Given the description of an element on the screen output the (x, y) to click on. 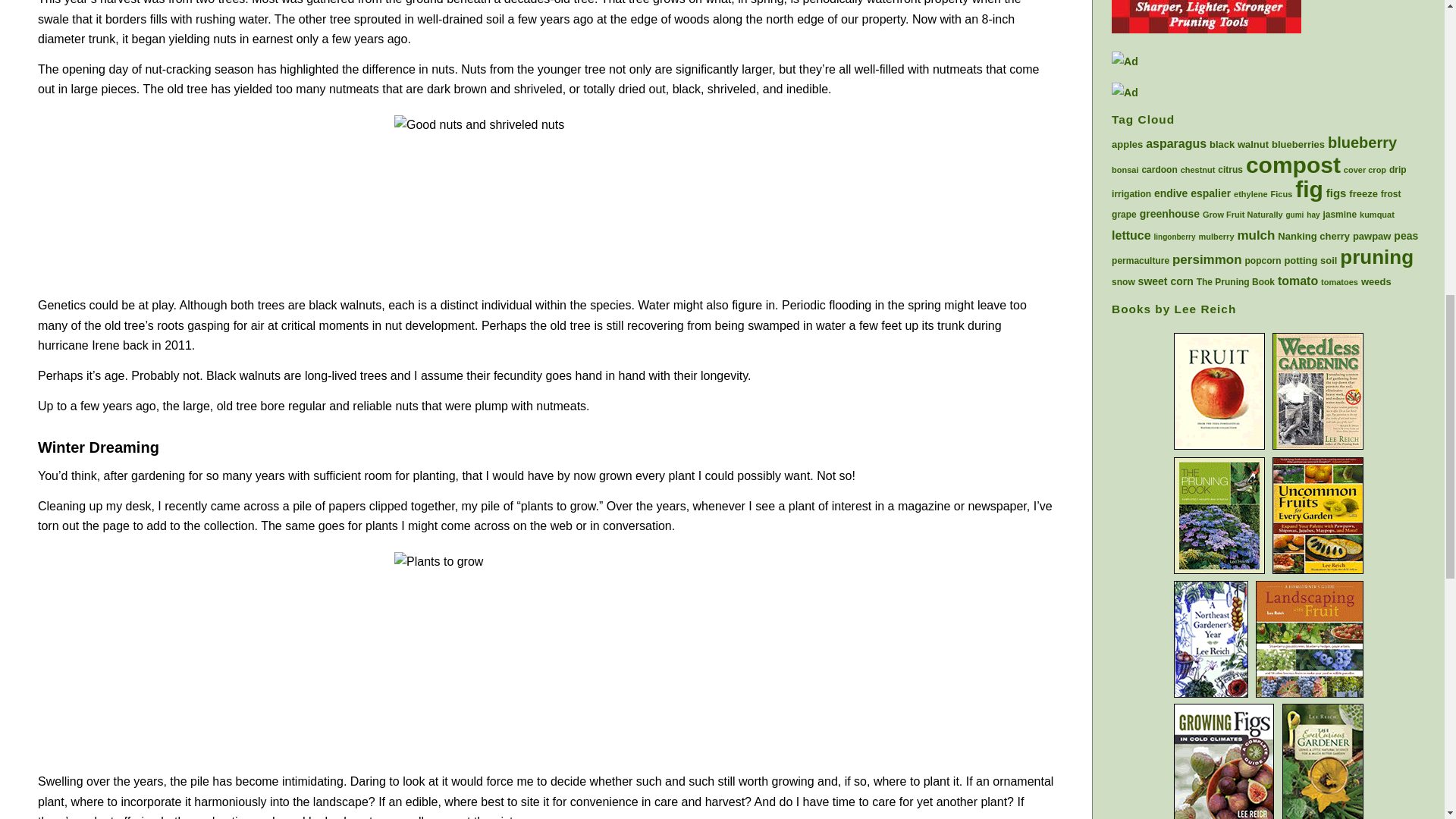
8 topics (1127, 143)
15 topics (1361, 142)
8 topics (1238, 143)
11 topics (1176, 143)
8 topics (1297, 143)
apples (1127, 143)
